Given the description of an element on the screen output the (x, y) to click on. 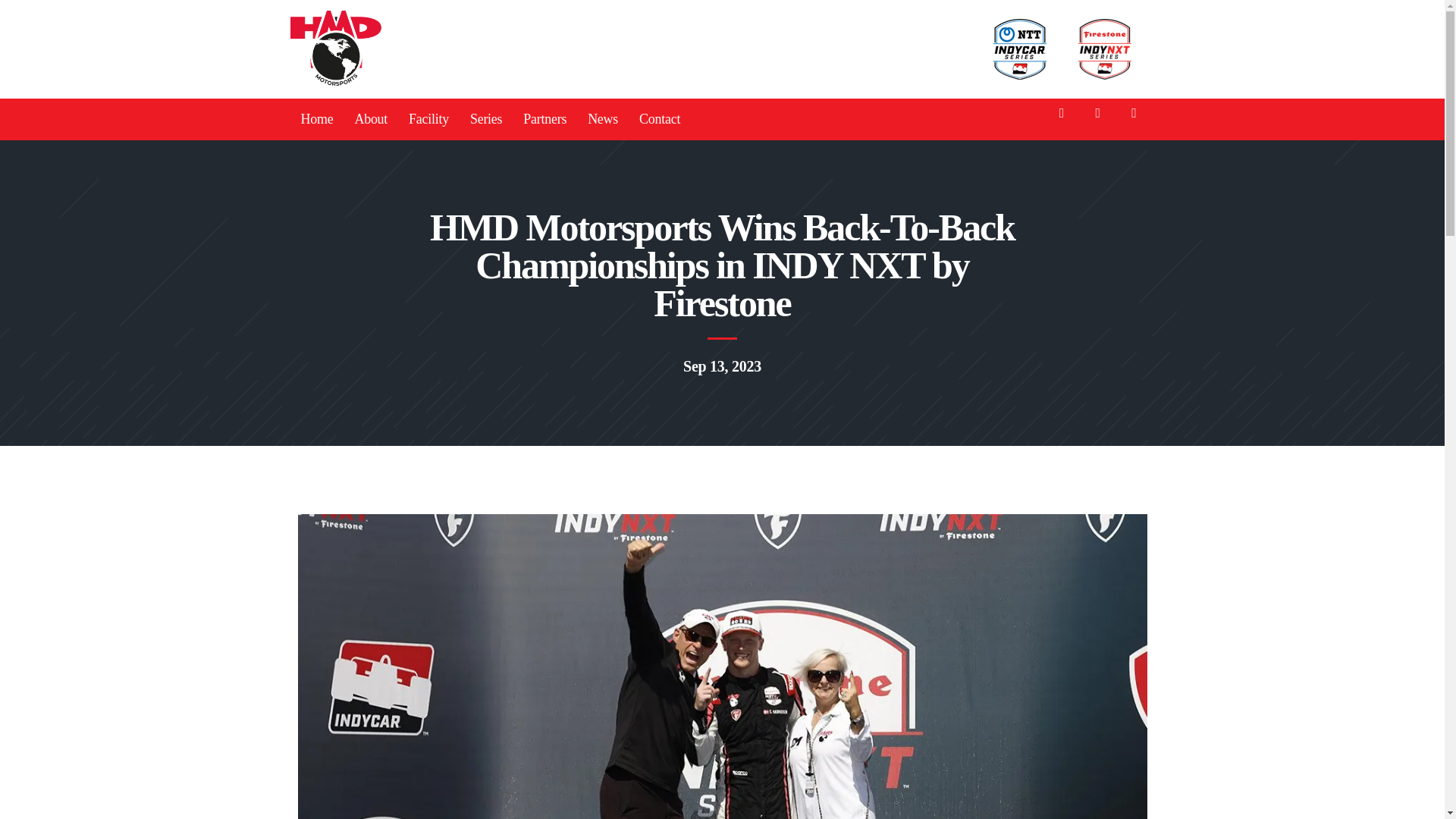
Facility (428, 119)
Partners (544, 119)
About (370, 119)
Series (486, 119)
Home (316, 119)
News (602, 119)
Contact (659, 119)
